Given the description of an element on the screen output the (x, y) to click on. 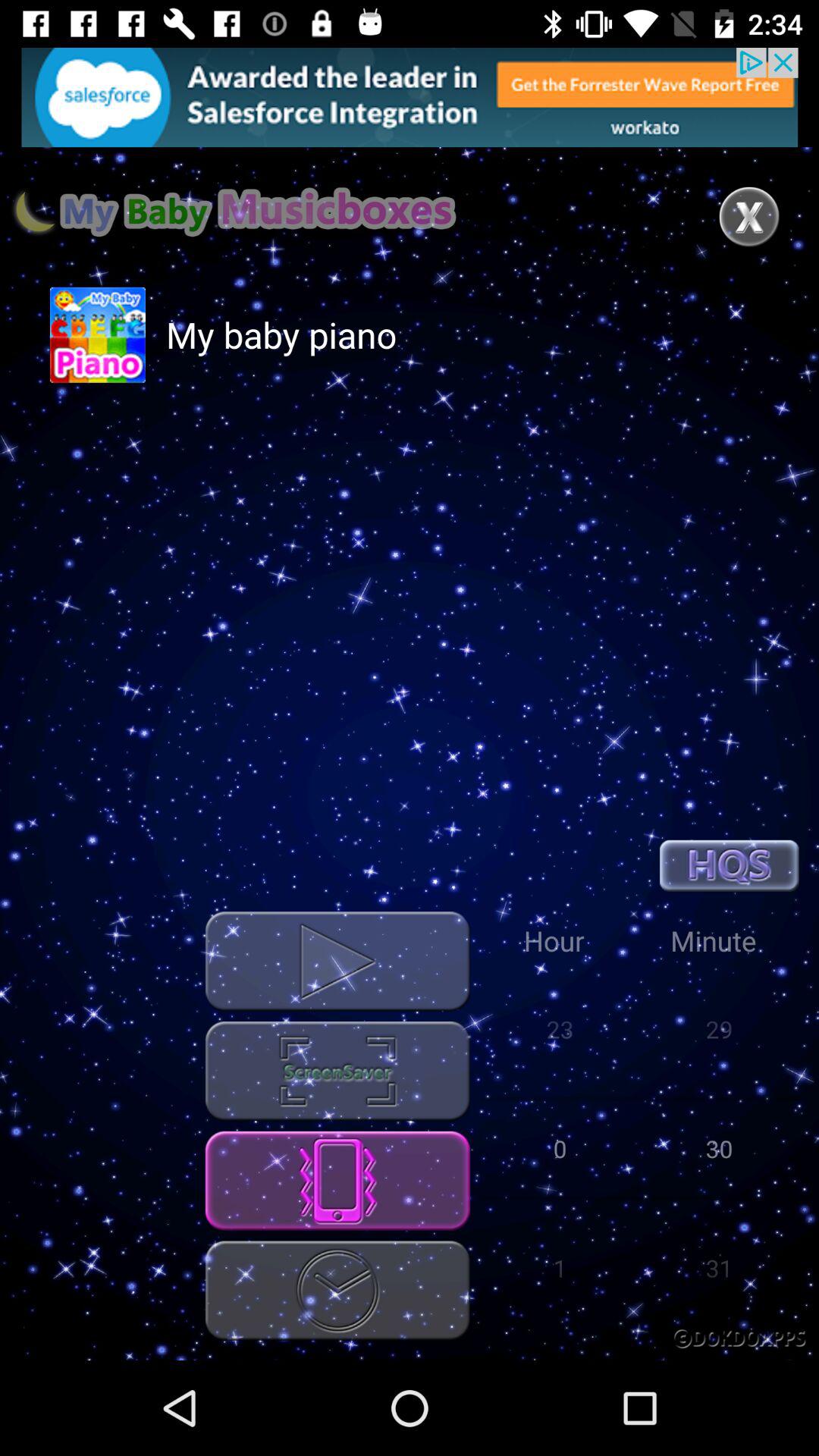
open advertisements (409, 97)
